Given the description of an element on the screen output the (x, y) to click on. 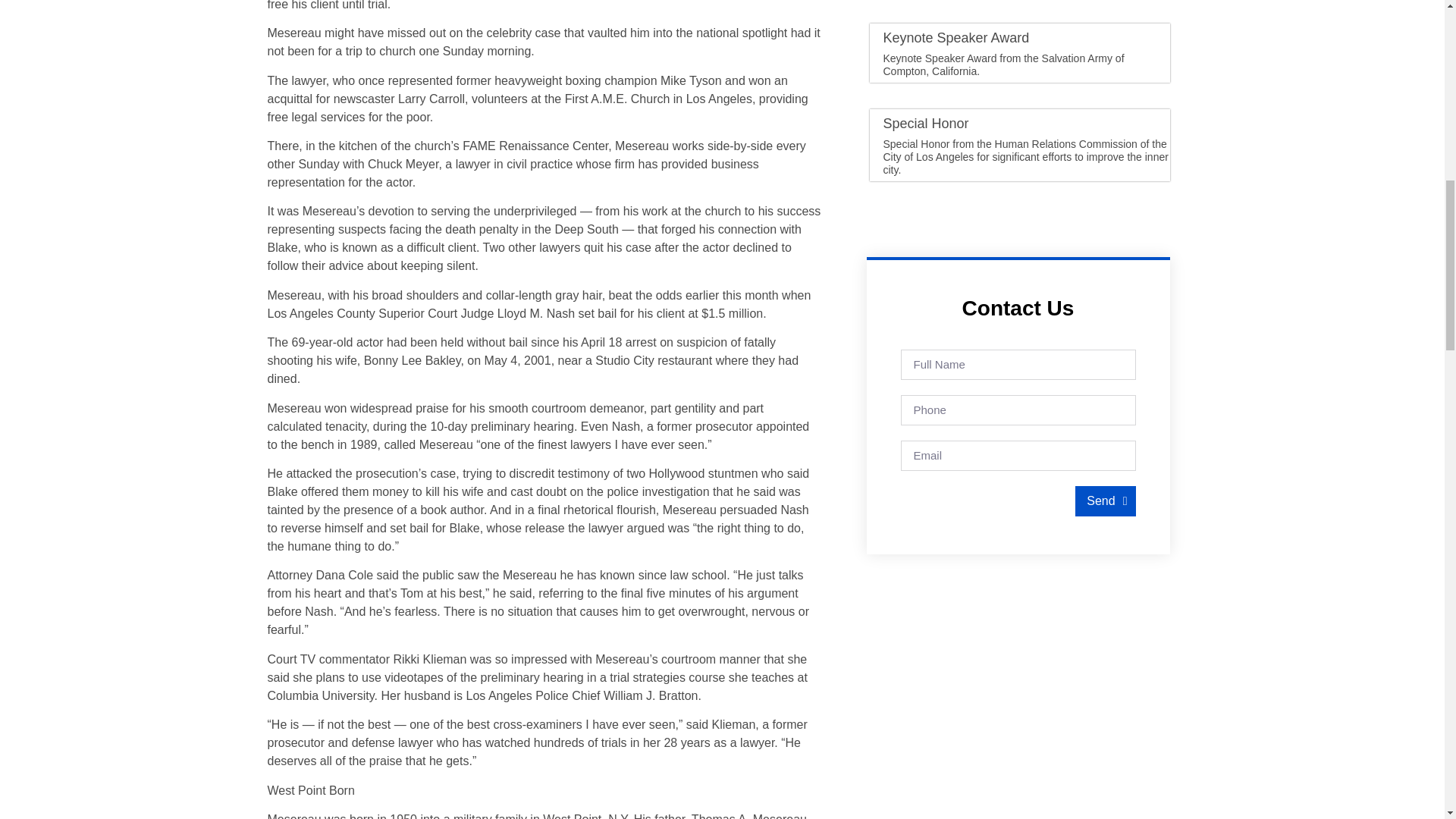
Keynote Speaker Award (955, 37)
Special Honor (925, 123)
Send (1105, 501)
